Given the description of an element on the screen output the (x, y) to click on. 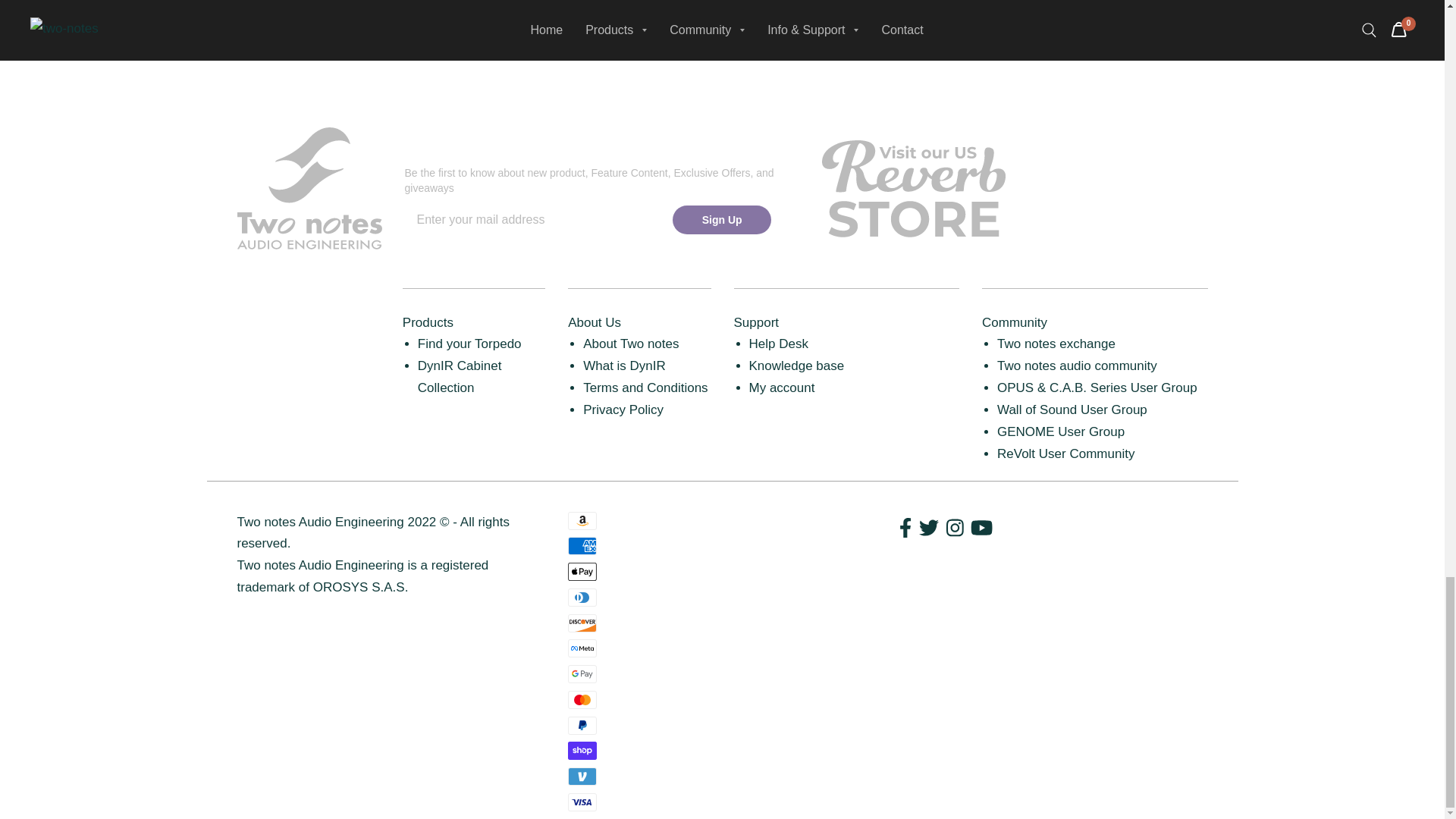
Shop Pay (581, 751)
Apple Pay (581, 571)
Amazon (581, 520)
PayPal (581, 725)
Visa (581, 802)
American Express (581, 546)
Venmo (581, 776)
Google Pay (581, 674)
Discover (581, 623)
Diners Club (581, 597)
Mastercard (581, 700)
Meta Pay (581, 648)
